Given the description of an element on the screen output the (x, y) to click on. 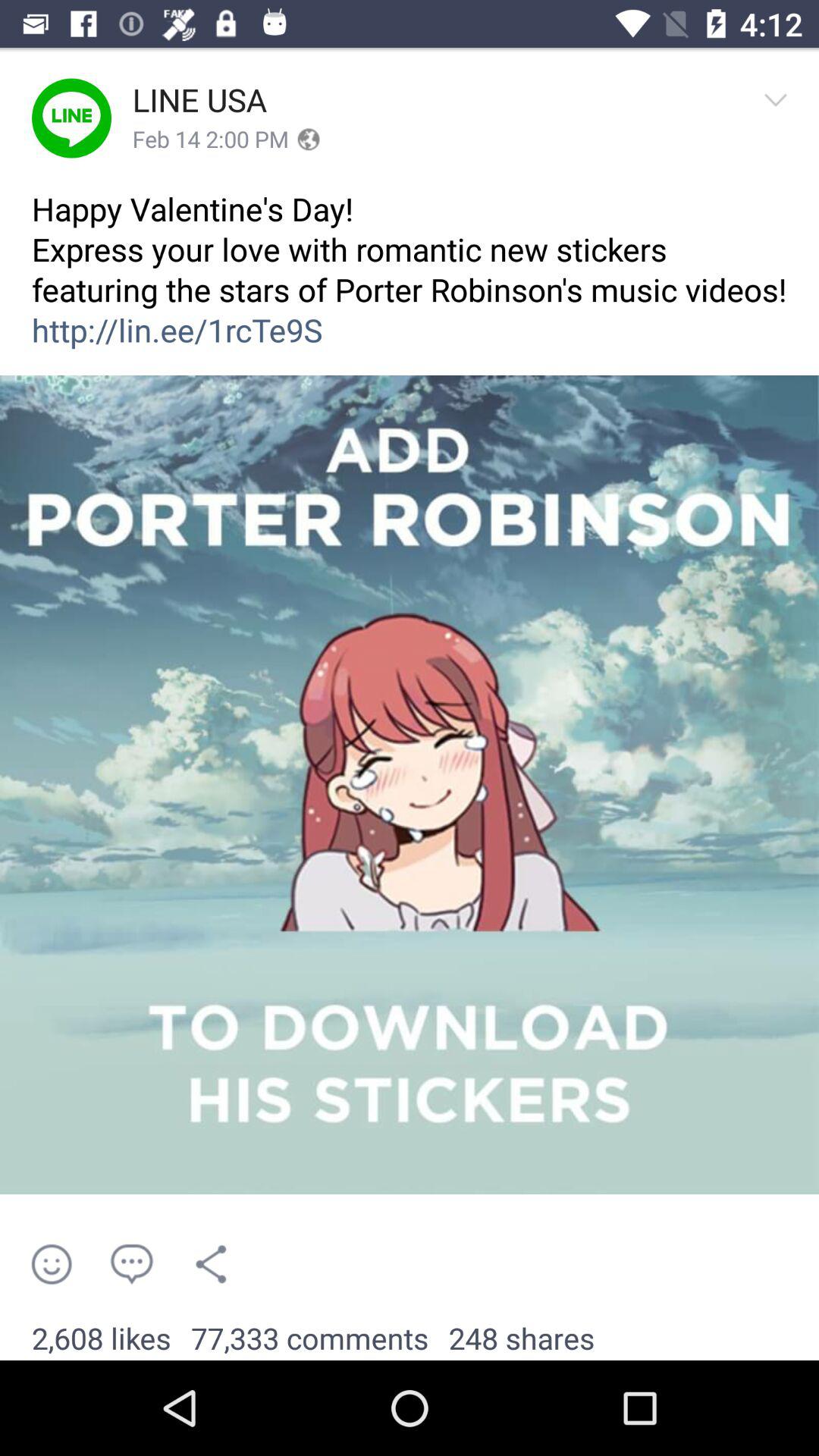
flip until happy valentine s icon (409, 281)
